Given the description of an element on the screen output the (x, y) to click on. 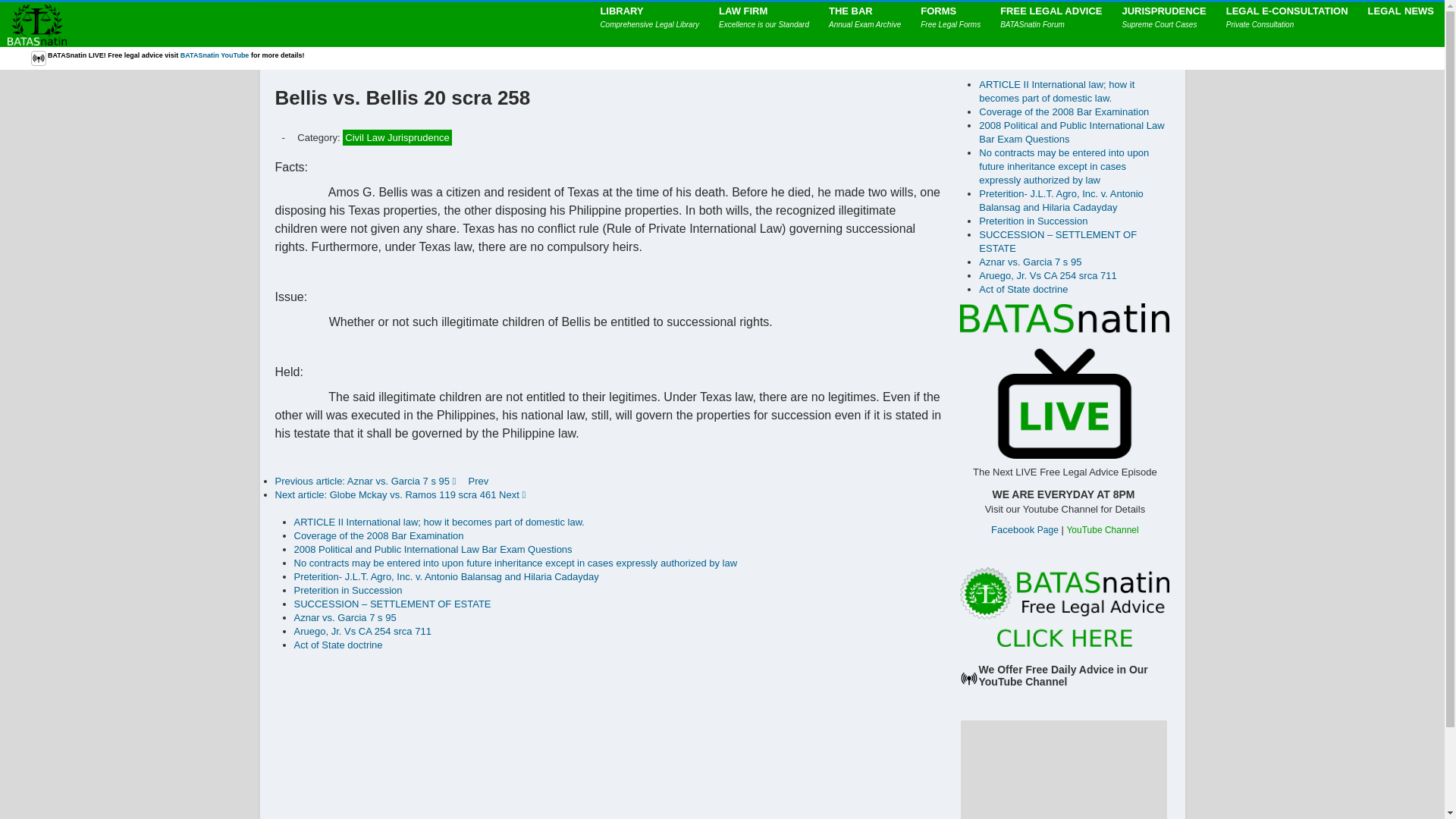
Supreme Court Cases (1164, 24)
BATASnatin Free Legal Advice (1064, 605)
BATASnatin Forum (1050, 24)
Free Legal Forms (950, 24)
BATASnatin Facebook (1024, 529)
Private Consultation (1286, 24)
Annual Exam Archive (864, 24)
BATASnatin LIVE on YouTube Live and Facebook Live (38, 57)
LIBRARY (649, 24)
Free Legal Advice (214, 54)
BATASnatin LIVE Pilot Broadcast Countdown (1064, 380)
Comprehensive Legal Library (649, 24)
Excellence is our Standard (764, 24)
